Given the description of an element on the screen output the (x, y) to click on. 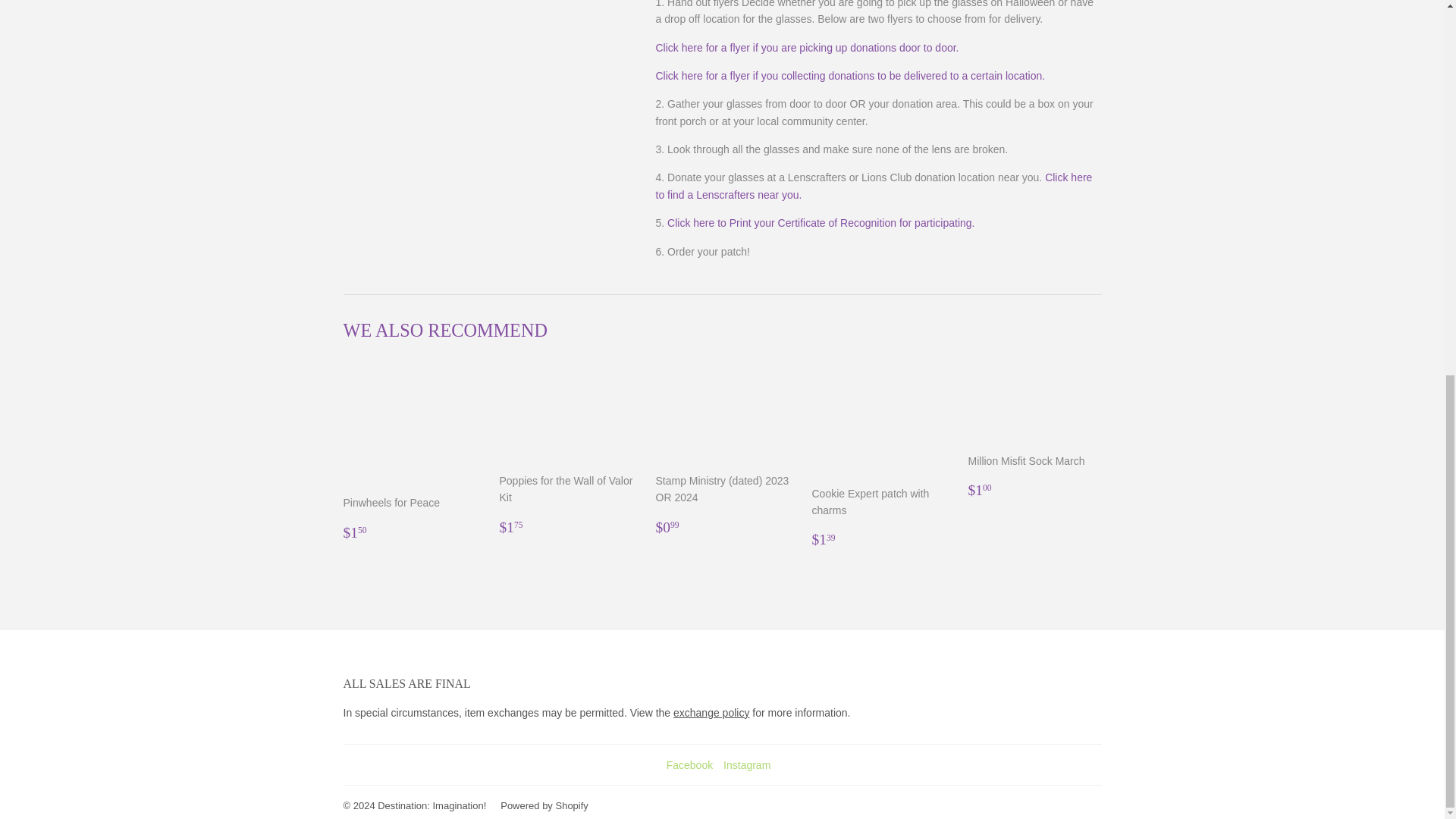
Destination: Imagination! on Facebook (689, 765)
Destination: Imagination! on Instagram (746, 765)
Refund Policy (710, 712)
